Given the description of an element on the screen output the (x, y) to click on. 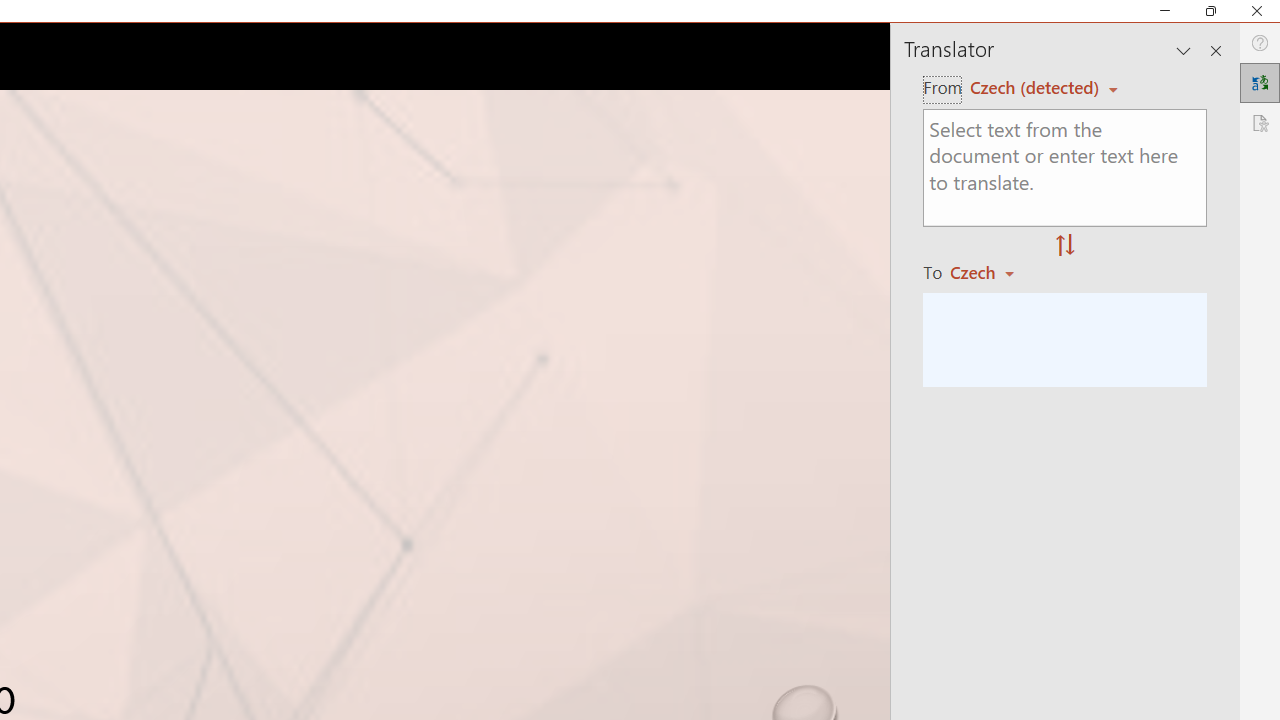
Czech (991, 272)
Swap "from" and "to" languages. (1065, 245)
Czech (detected) (1037, 87)
Translator (1260, 82)
